Given the description of an element on the screen output the (x, y) to click on. 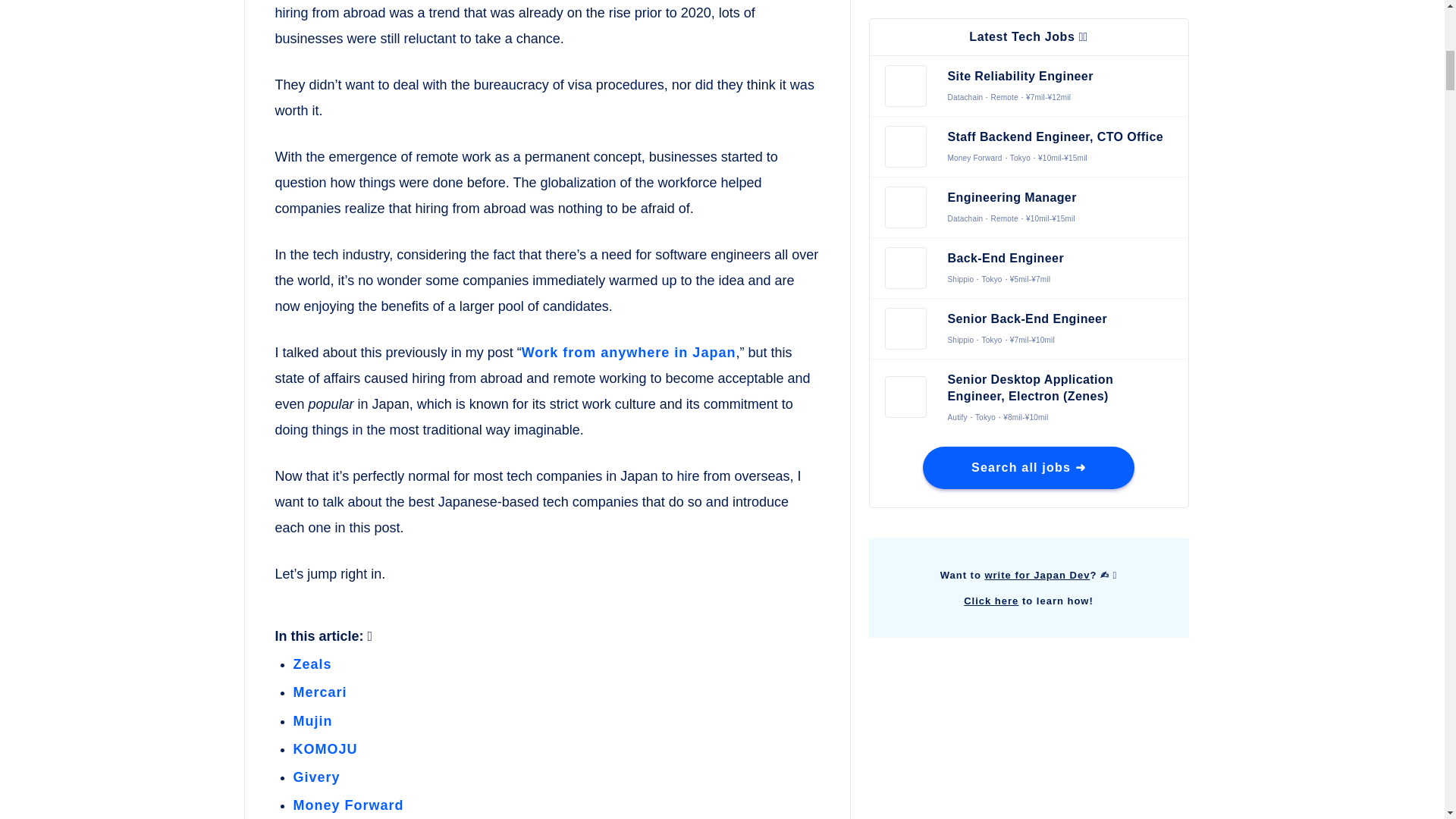
KOMOJU (324, 749)
Zeals (311, 663)
Mujin (311, 720)
Work from anywhere in Japan (628, 352)
Money Forward (347, 805)
Mercari (319, 692)
Givery (315, 776)
